Given the description of an element on the screen output the (x, y) to click on. 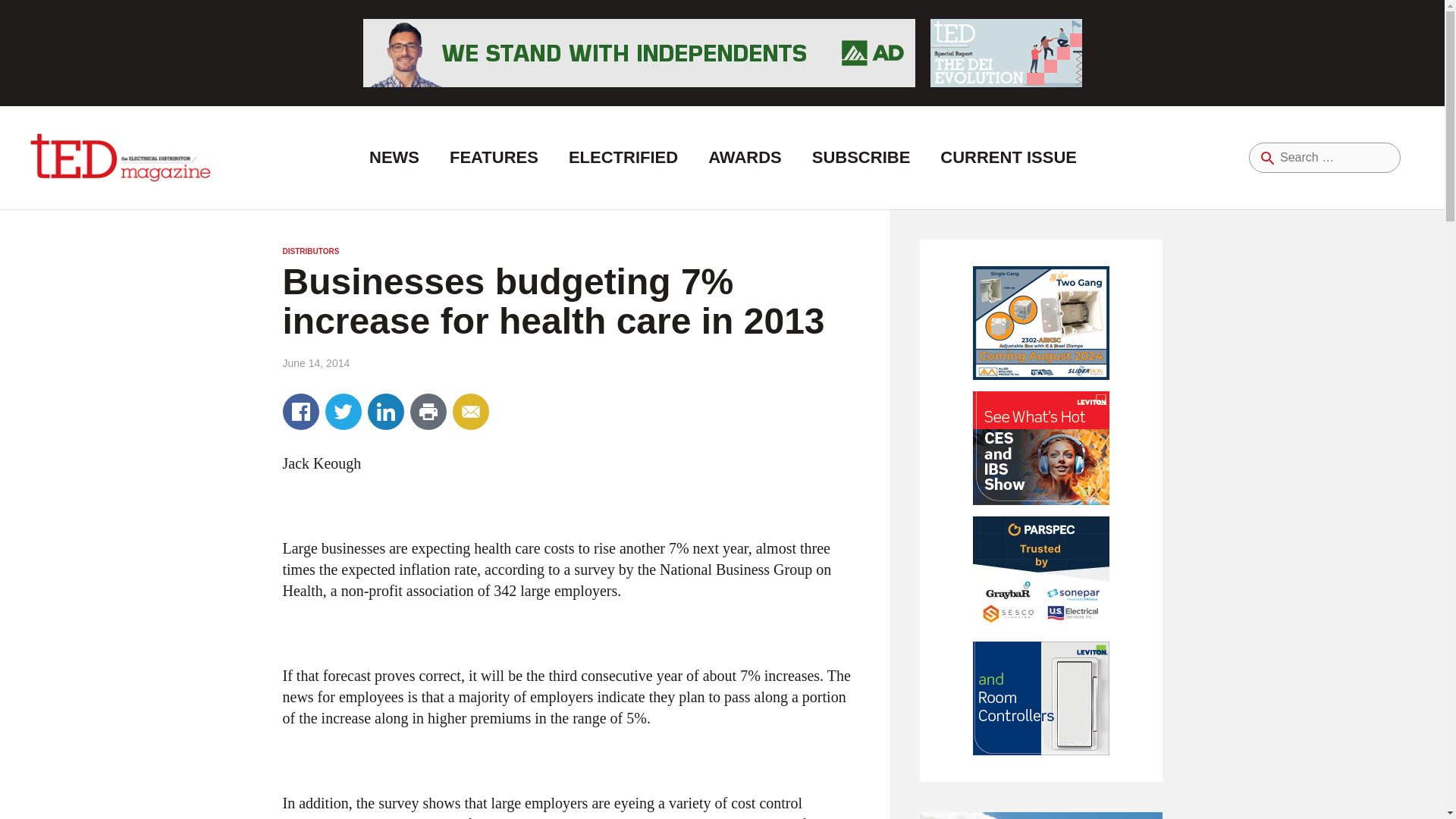
SUBSCRIBE (861, 157)
AWARDS (745, 157)
CURRENT ISSUE (1008, 157)
June 14, 2014 (315, 363)
FEATURES (493, 157)
NEWS (394, 157)
Search for: (1324, 157)
ELECTRIFIED (622, 157)
